Given the description of an element on the screen output the (x, y) to click on. 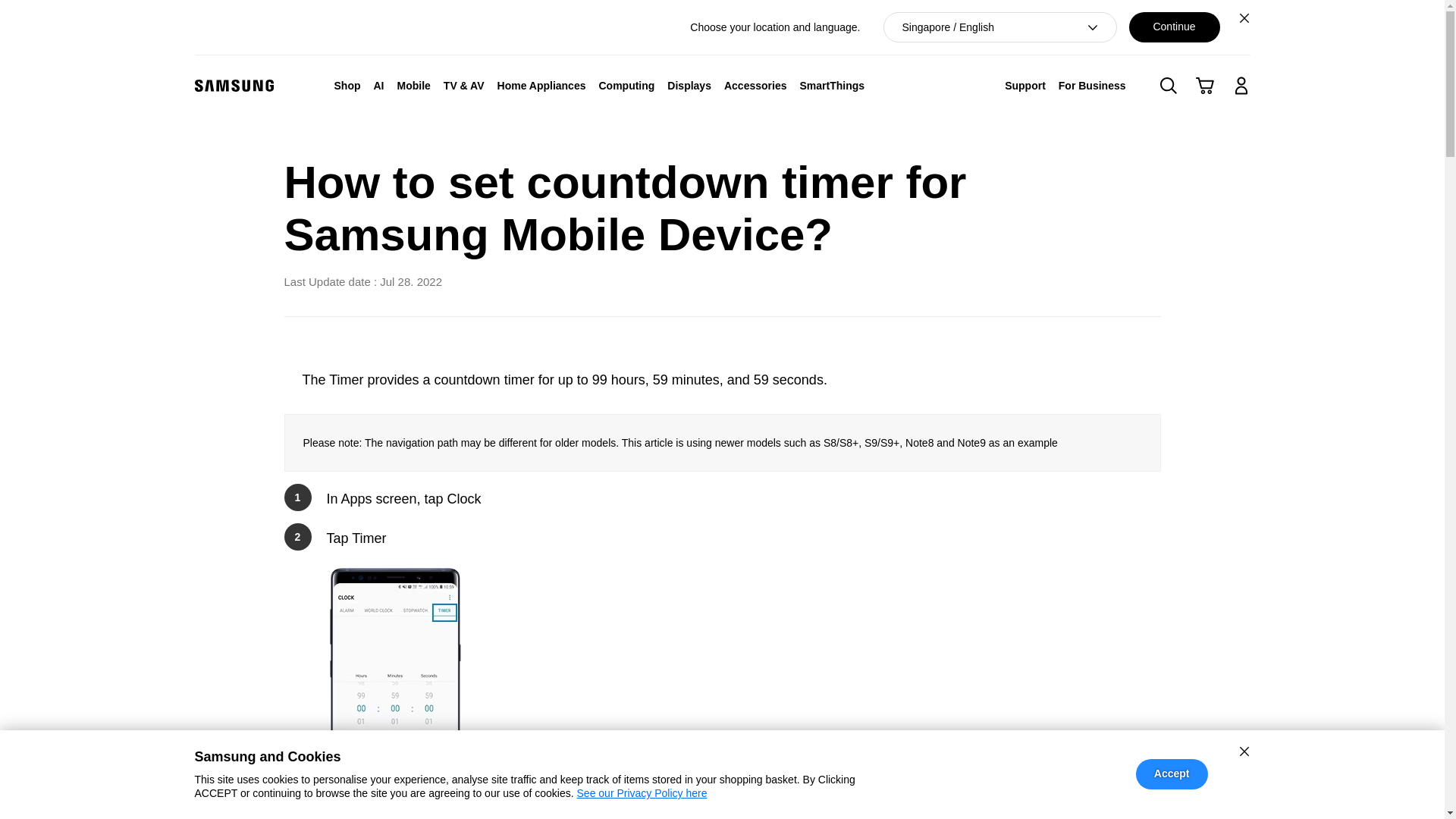
Shop (346, 85)
See our Privacy Policy here (641, 793)
Close (1243, 17)
close (1243, 751)
Accept (1171, 774)
Accept (1171, 774)
Continue (1174, 27)
